Given the description of an element on the screen output the (x, y) to click on. 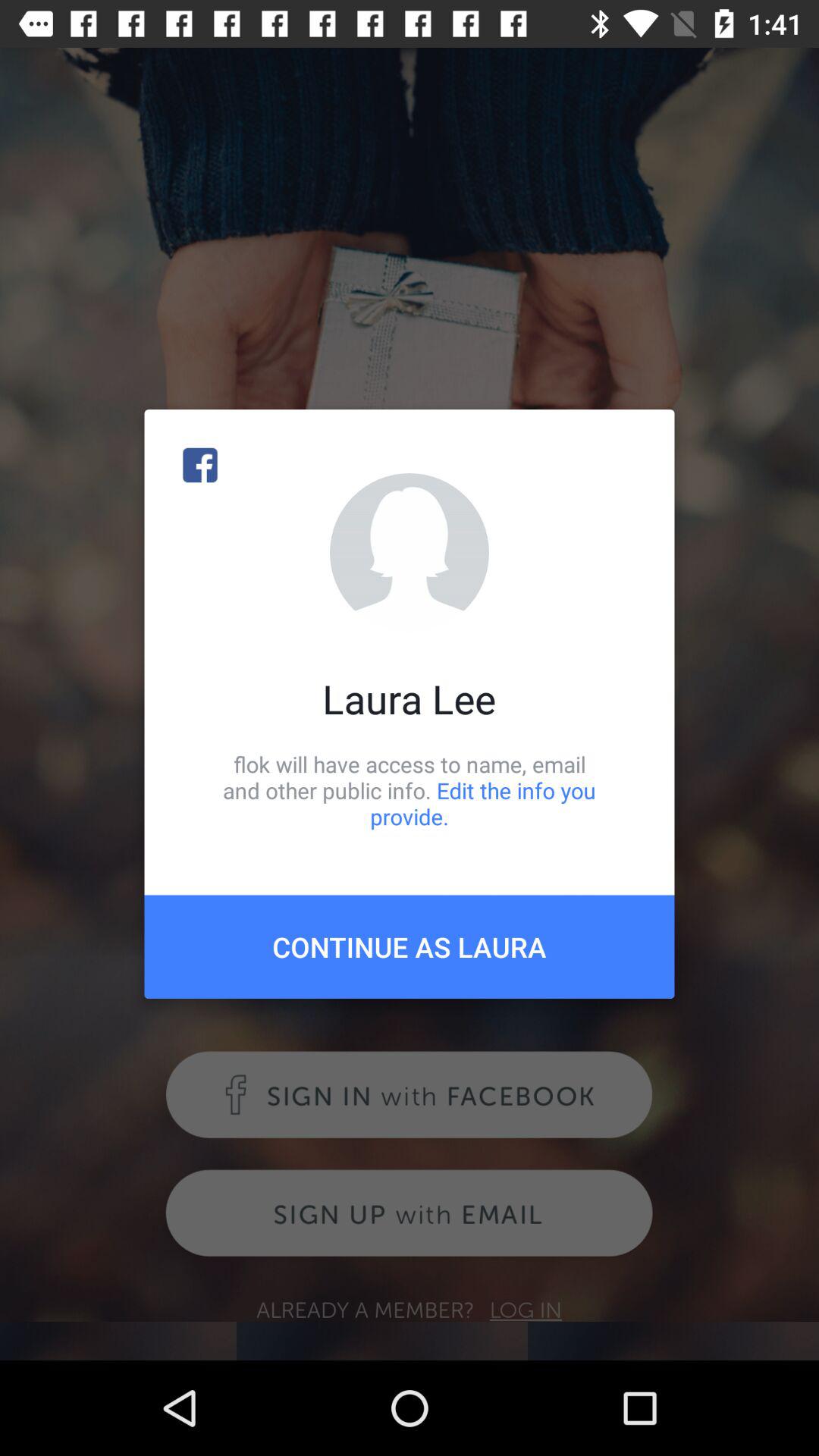
press the flok will have item (409, 790)
